Given the description of an element on the screen output the (x, y) to click on. 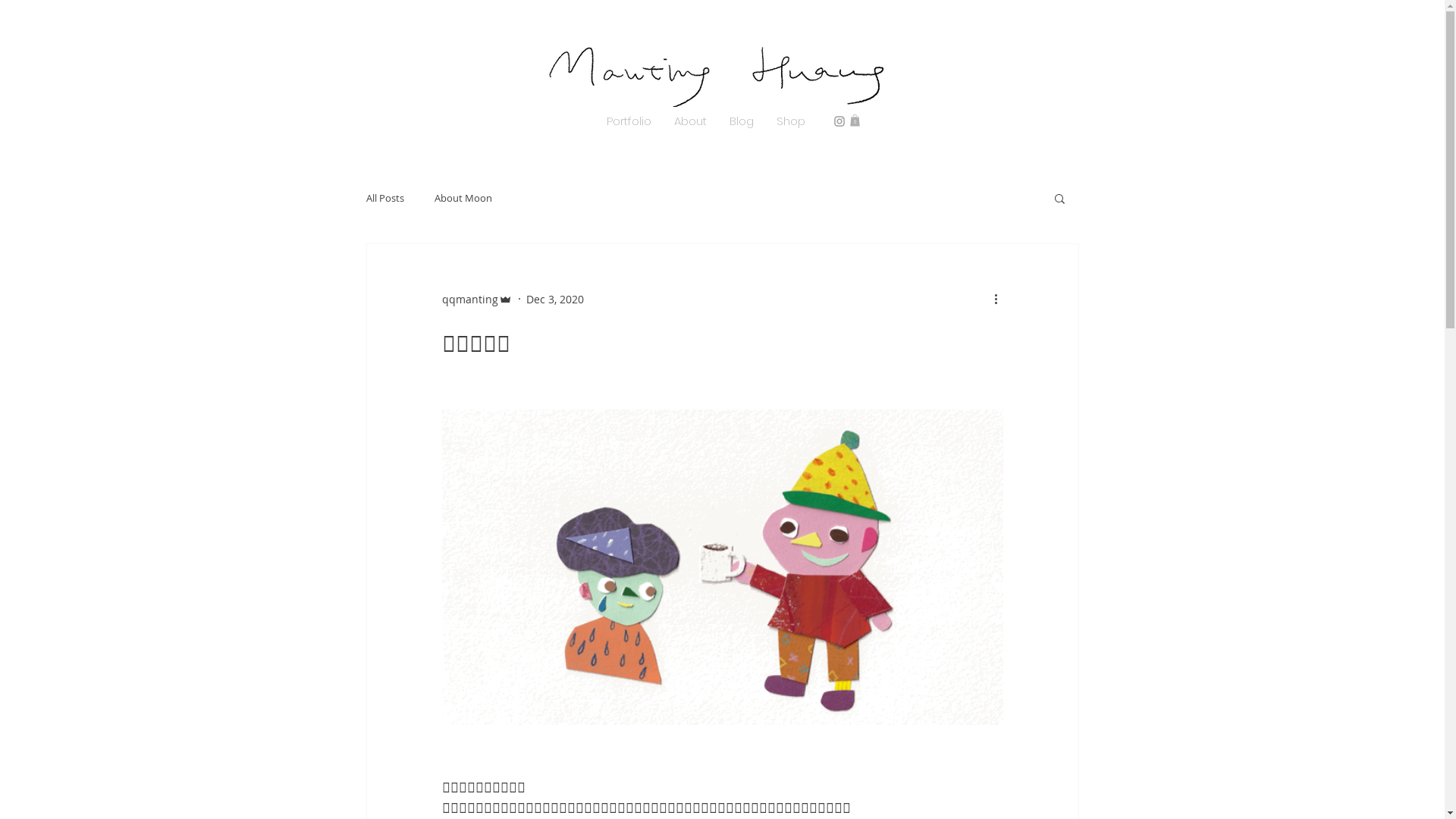
0 Element type: text (854, 120)
Shop Element type: text (789, 120)
All Posts Element type: text (384, 197)
Blog Element type: text (740, 120)
About Element type: text (690, 120)
About Moon Element type: text (462, 197)
qqmanting Element type: text (476, 299)
